Given the description of an element on the screen output the (x, y) to click on. 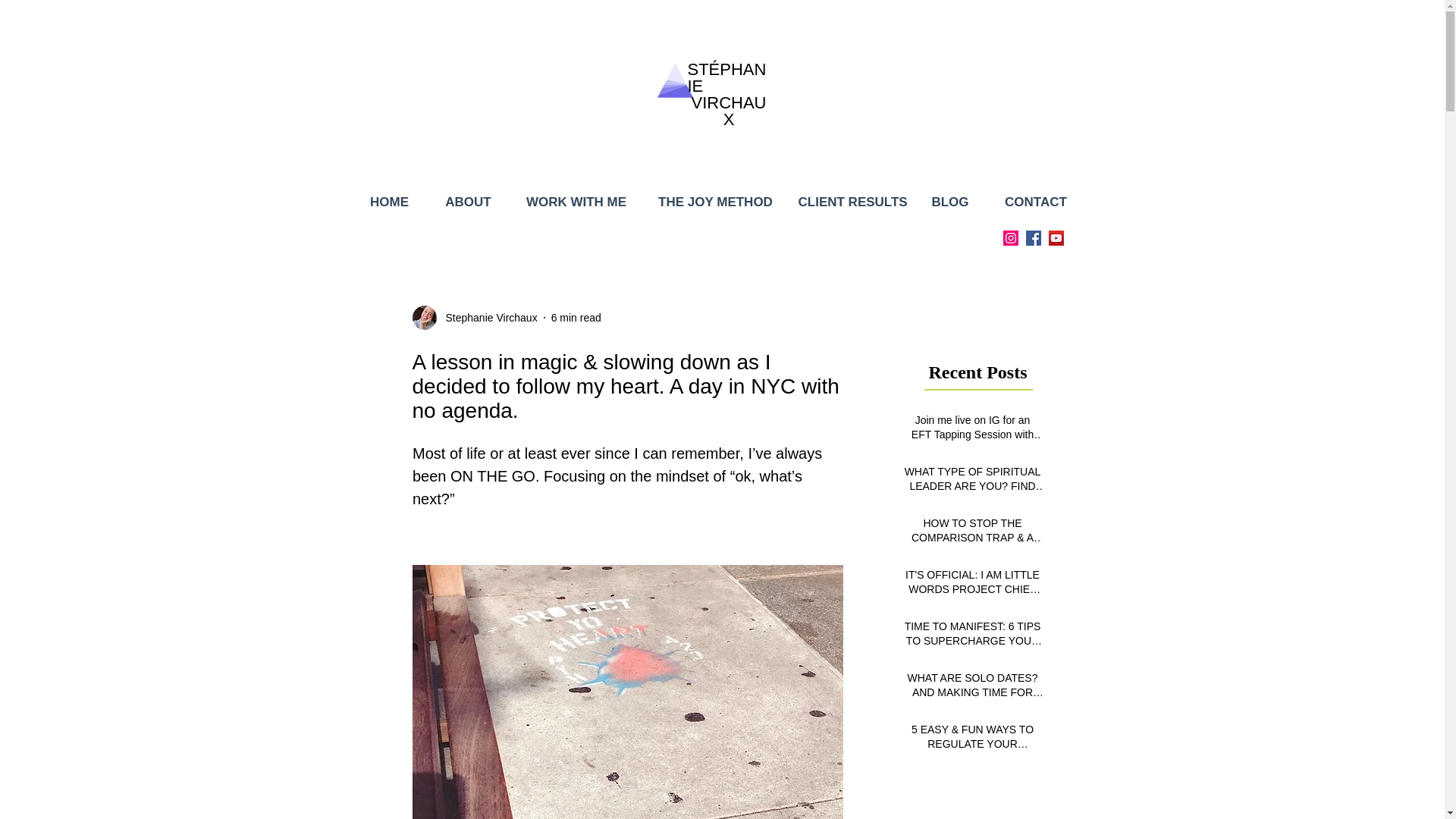
6 min read (576, 316)
WHAT ARE SOLO DATES? AND MAKING TIME FOR YOU (973, 688)
Stephanie Virchaux (486, 317)
